Given the description of an element on the screen output the (x, y) to click on. 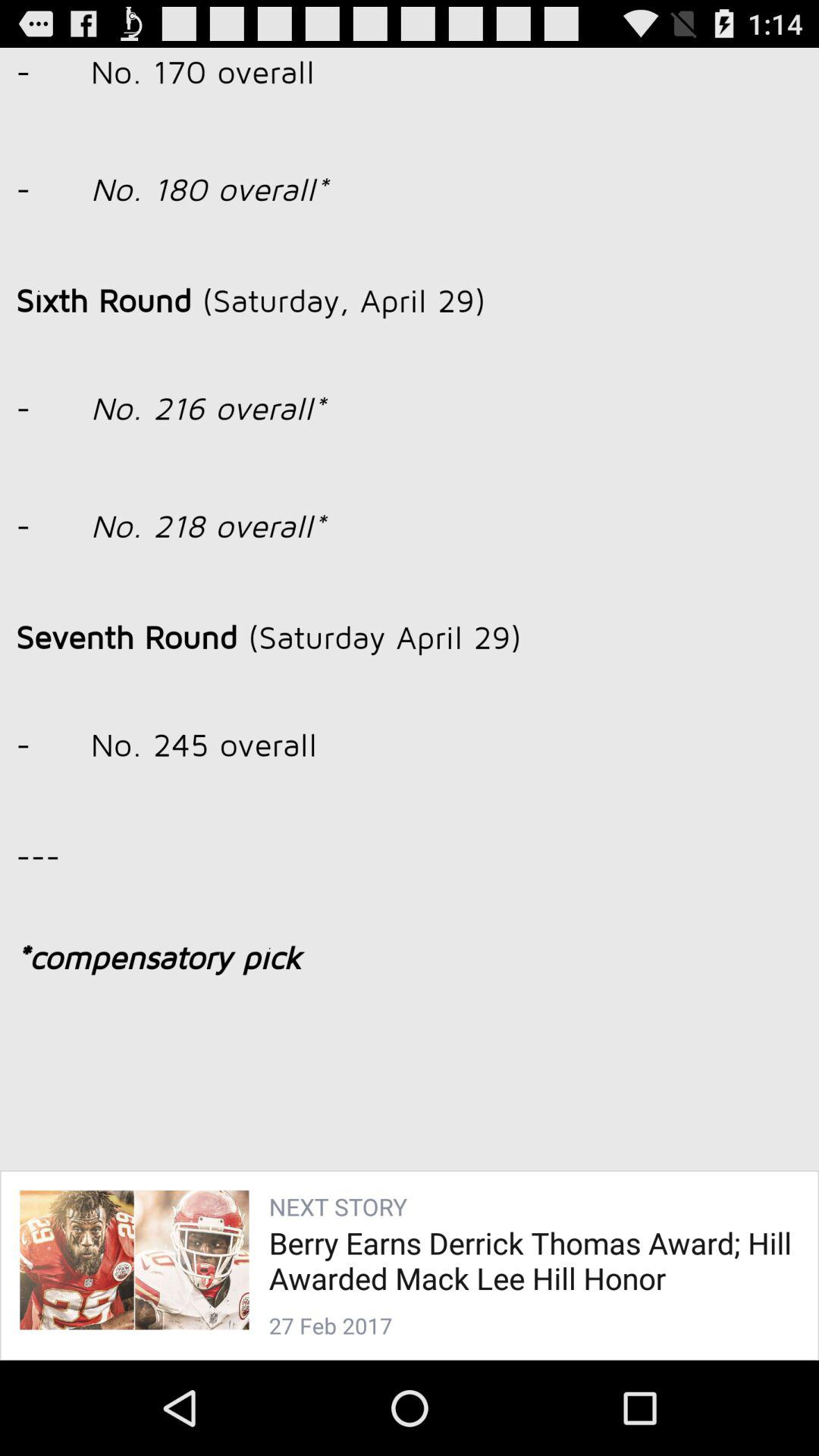
add image icon (409, 683)
